Given the description of an element on the screen output the (x, y) to click on. 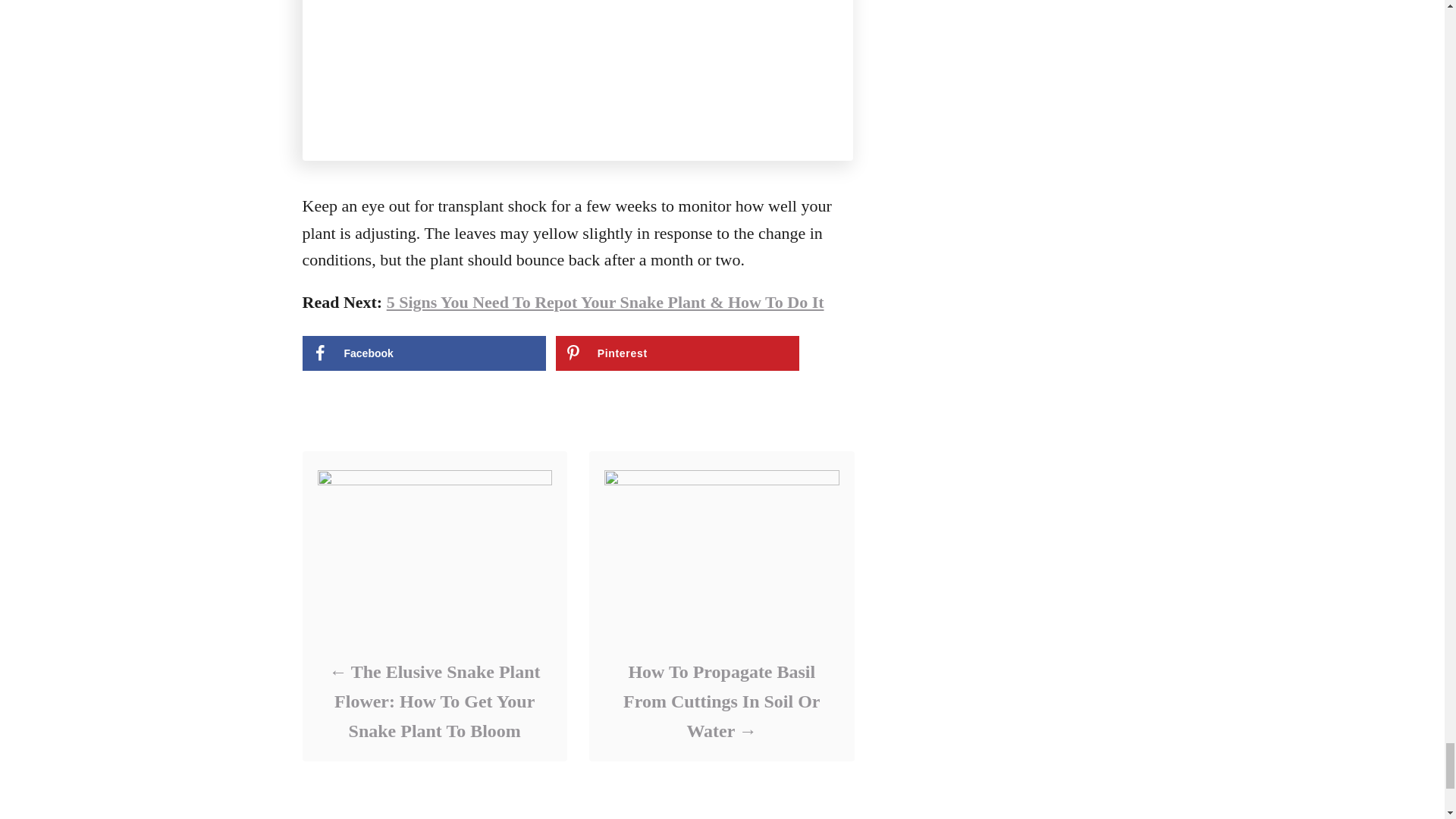
Share on Facebook (422, 353)
Save to Pinterest (677, 353)
